Given the description of an element on the screen output the (x, y) to click on. 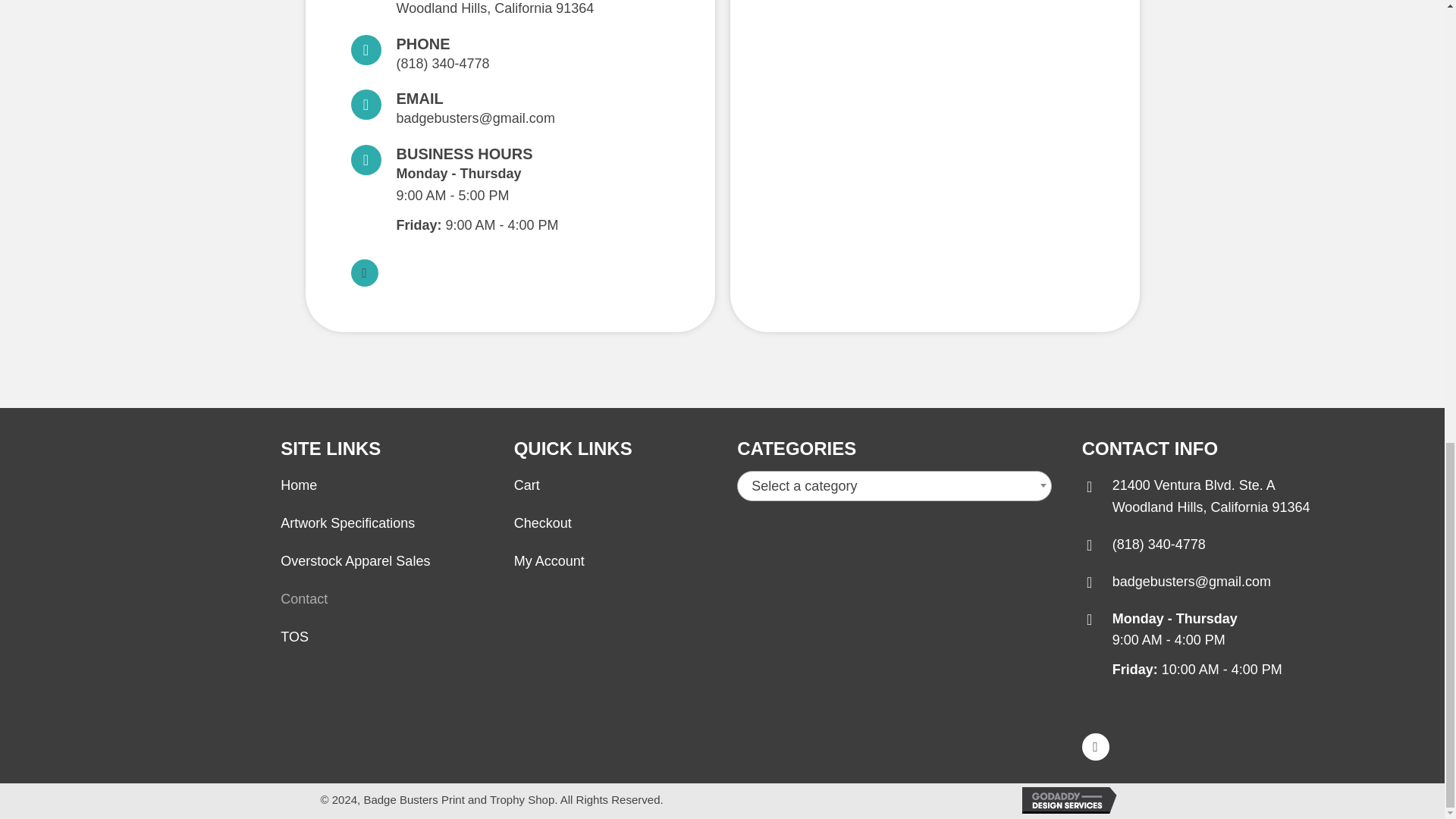
Facebook (1211, 496)
Cart (363, 272)
Home (526, 485)
My Account (299, 485)
Checkout (549, 560)
Overstock Apparel Sales (542, 523)
TOS (355, 560)
Artwork Specifications (294, 637)
Contact (347, 523)
Facebook (304, 599)
